Given the description of an element on the screen output the (x, y) to click on. 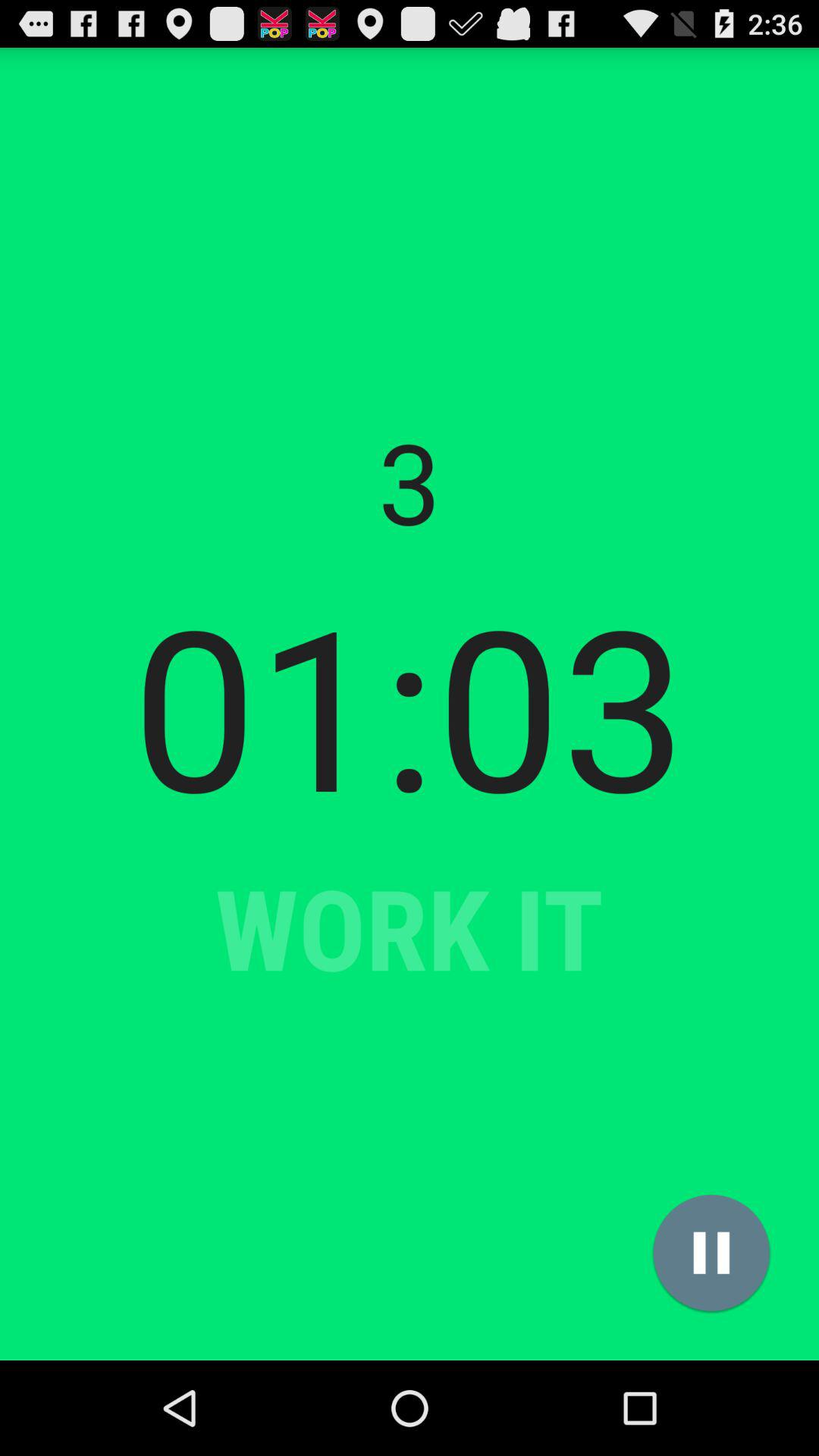
tap the item at the bottom right corner (711, 1252)
